Given the description of an element on the screen output the (x, y) to click on. 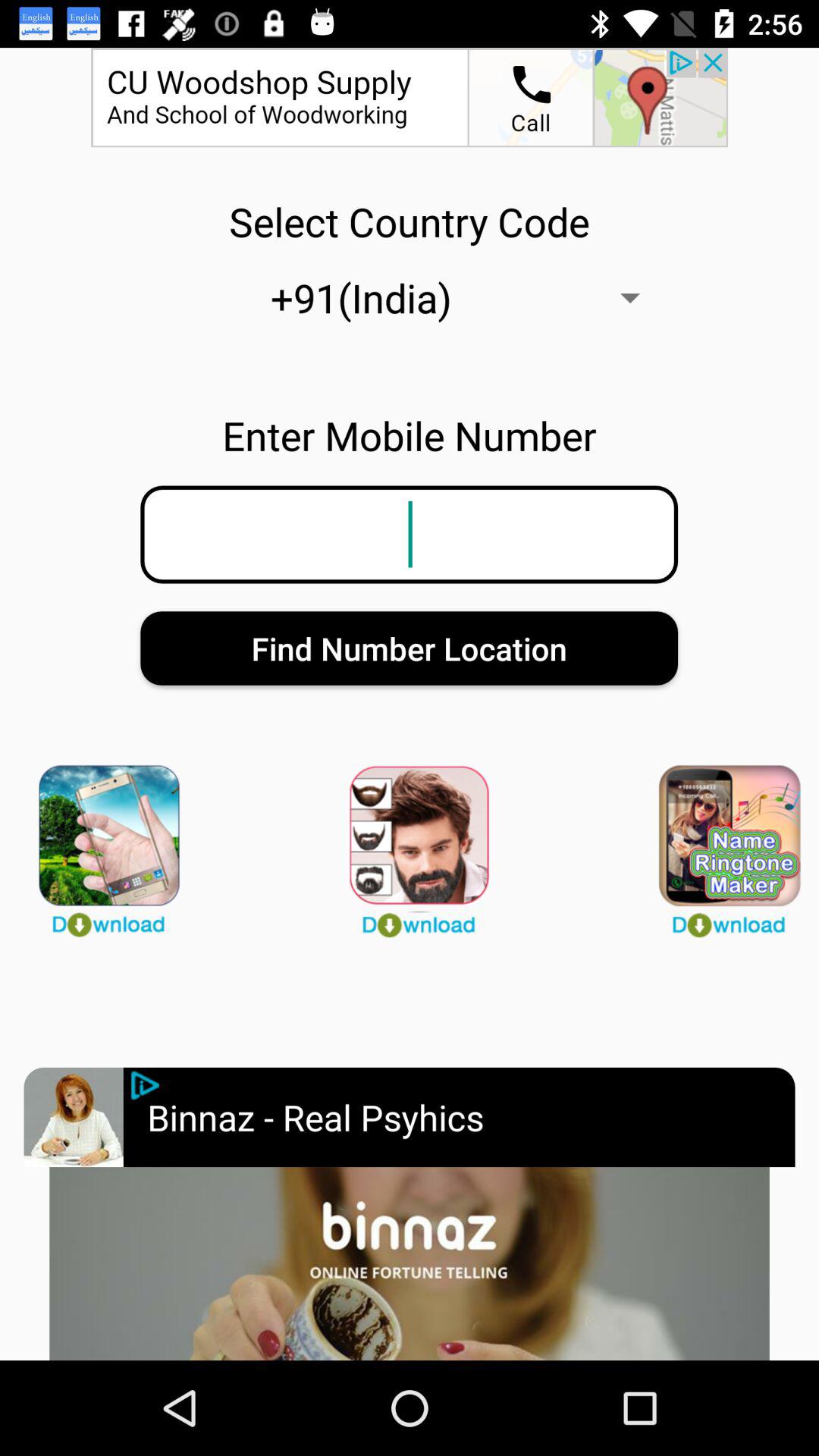
download ringtone maker (719, 844)
